Given the description of an element on the screen output the (x, y) to click on. 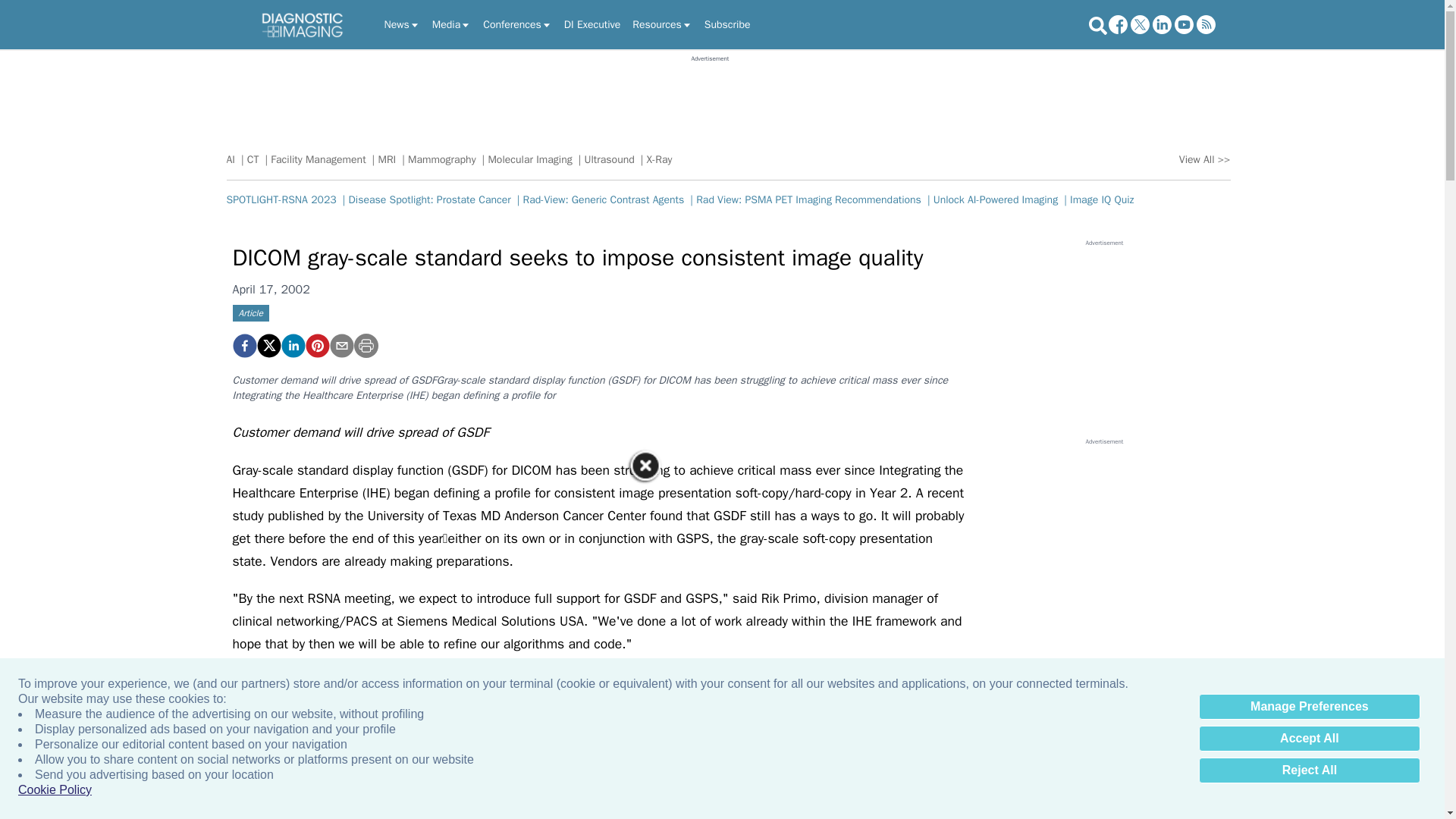
Manage Preferences (1309, 706)
DI Executive (592, 23)
3rd party ad content (709, 97)
Cookie Policy (54, 789)
Accept All (1309, 738)
Reject All (1309, 769)
Subscribe (727, 23)
